Given the description of an element on the screen output the (x, y) to click on. 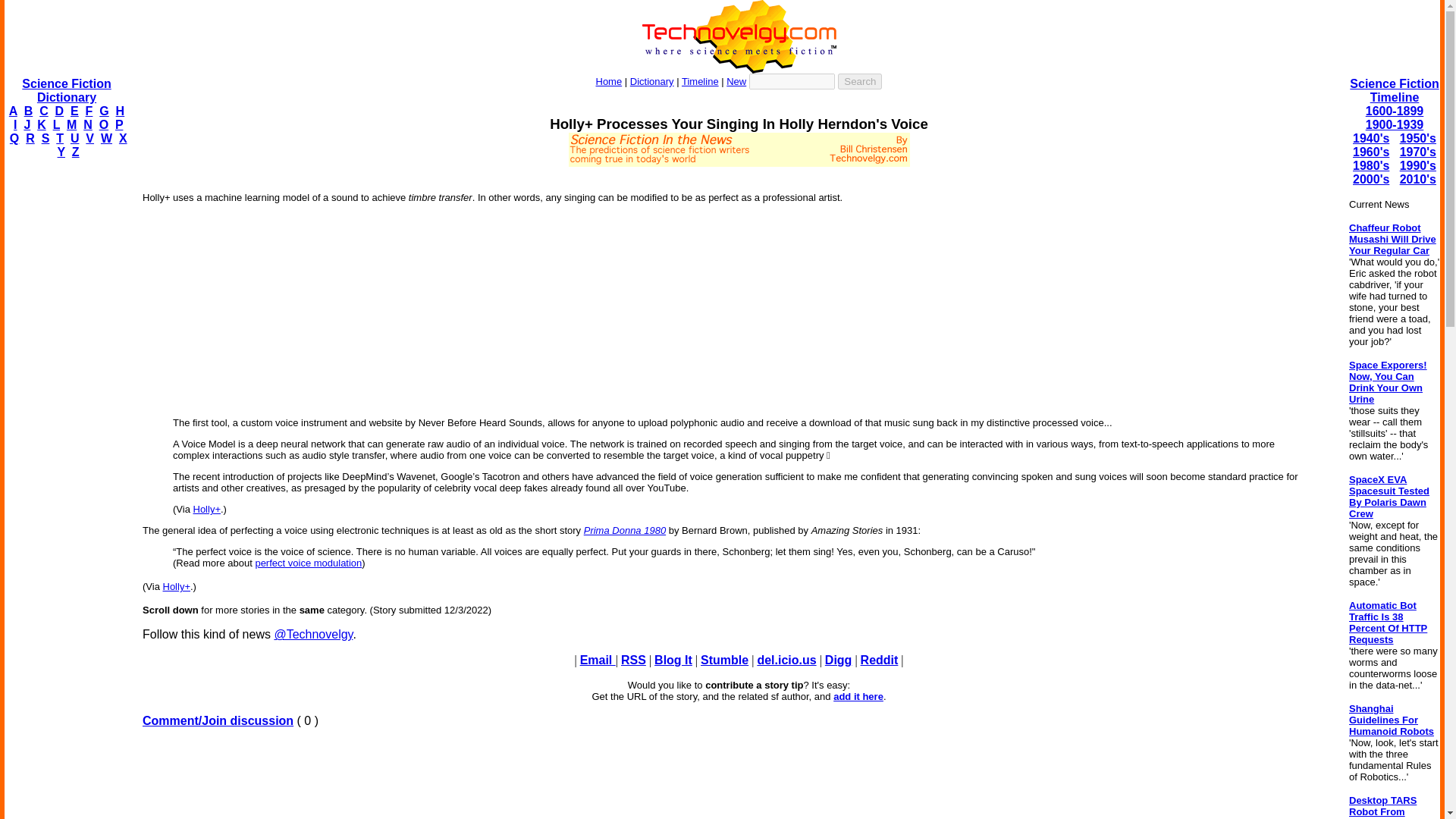
Email (597, 659)
Search (860, 81)
Advertisement (738, 779)
Timeline (700, 81)
Advertisement (737, 172)
Science Fiction Dictionary (65, 90)
Dictionary (652, 81)
RSS (633, 659)
New (735, 81)
Search (860, 81)
Home (609, 81)
perfect voice modulation (307, 562)
Prima Donna 1980 (624, 530)
YouTube video player (739, 311)
